Given the description of an element on the screen output the (x, y) to click on. 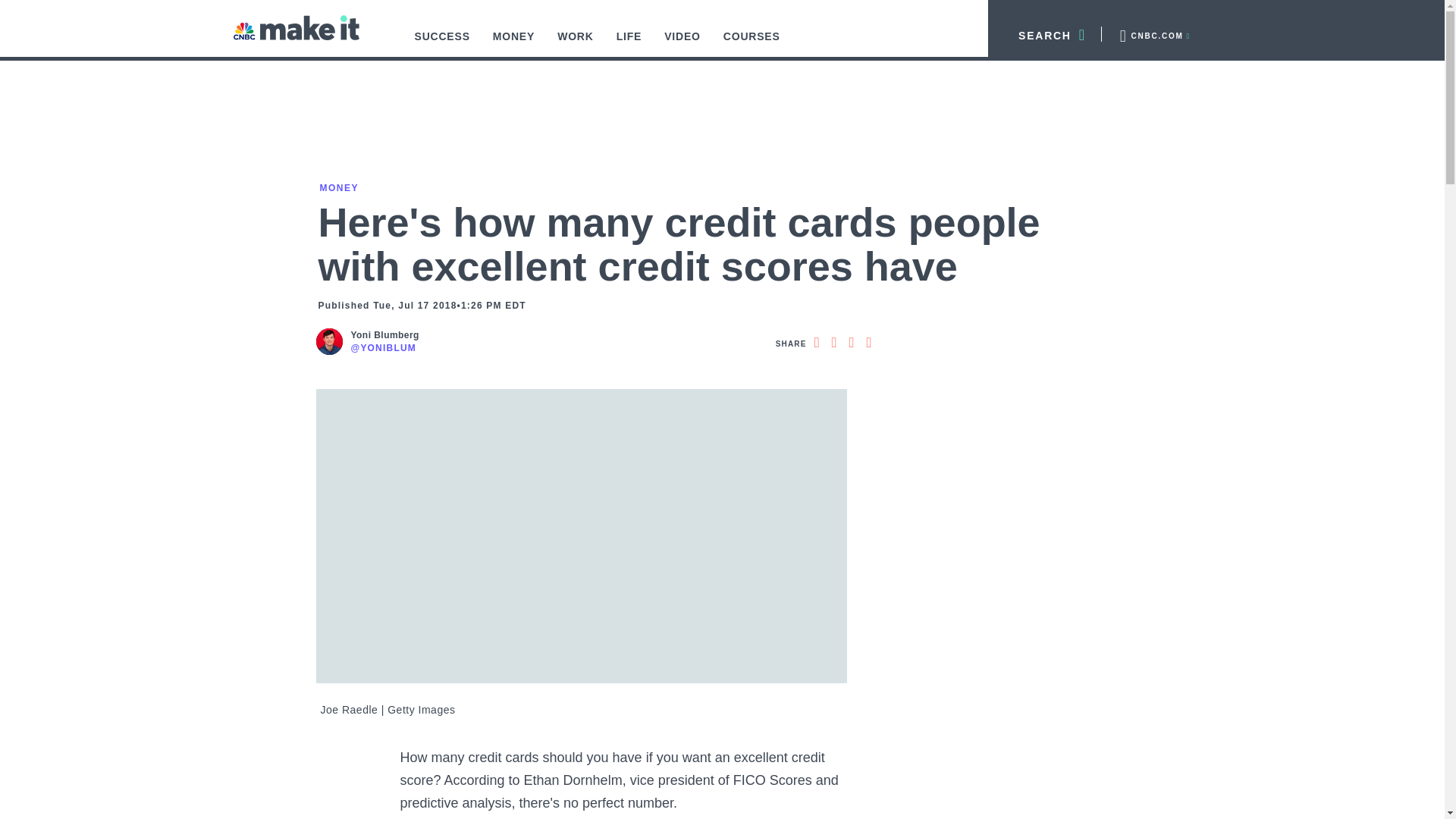
Share Article via LinkedIn (851, 342)
CNBC.COM (1153, 33)
COURSES (751, 44)
Yoni Blumberg (384, 335)
MONEY (337, 187)
WORK (575, 44)
MONEY (513, 44)
Share Article via Facebook (816, 342)
VIDEO (681, 44)
SEARCH (1045, 33)
